Given the description of an element on the screen output the (x, y) to click on. 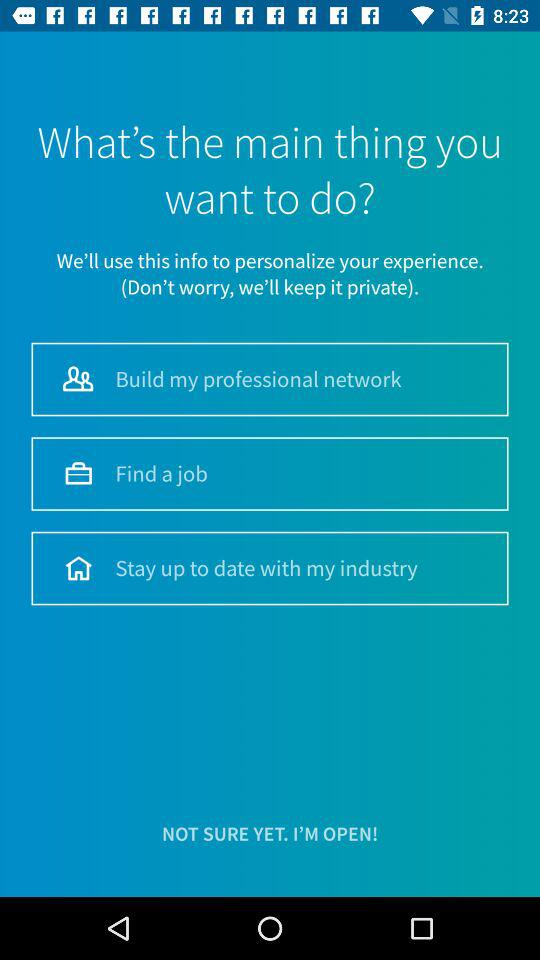
choose the icon below the stay up to icon (269, 833)
